Given the description of an element on the screen output the (x, y) to click on. 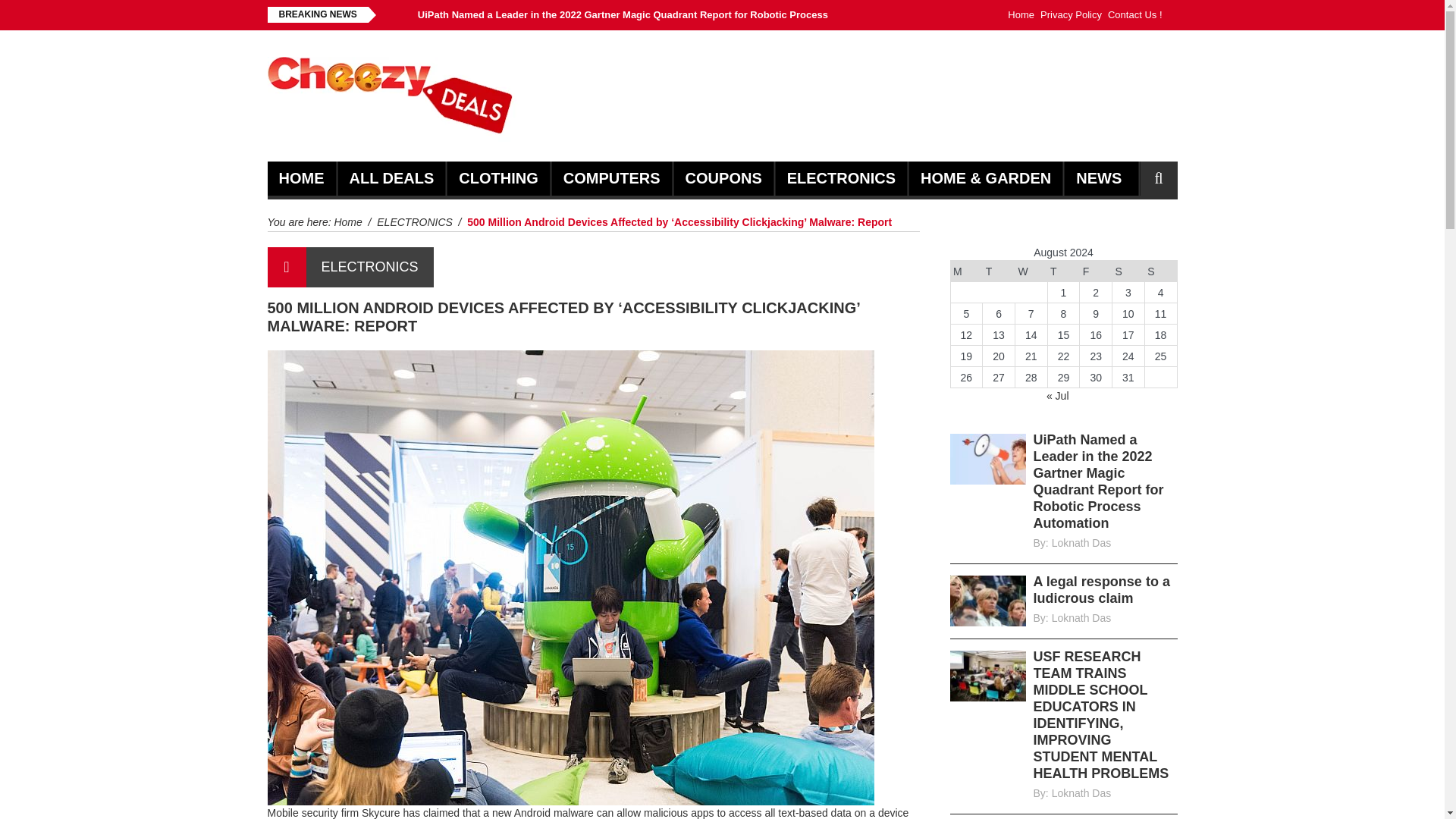
COUPONS (723, 178)
NEWS (1098, 178)
Tuesday (998, 271)
Posts by Loknath Das (1081, 542)
HOME (301, 178)
Contact Us ! (1134, 15)
COMPUTERS (612, 178)
Posts by Loknath Das (1081, 793)
ALL DEALS (391, 178)
Sunday (1160, 271)
CLOTHING (497, 178)
ELECTRONICS (369, 267)
Privacy Policy (1071, 15)
ELECTRONICS (841, 178)
Posts by Loknath Das (1081, 617)
